Given the description of an element on the screen output the (x, y) to click on. 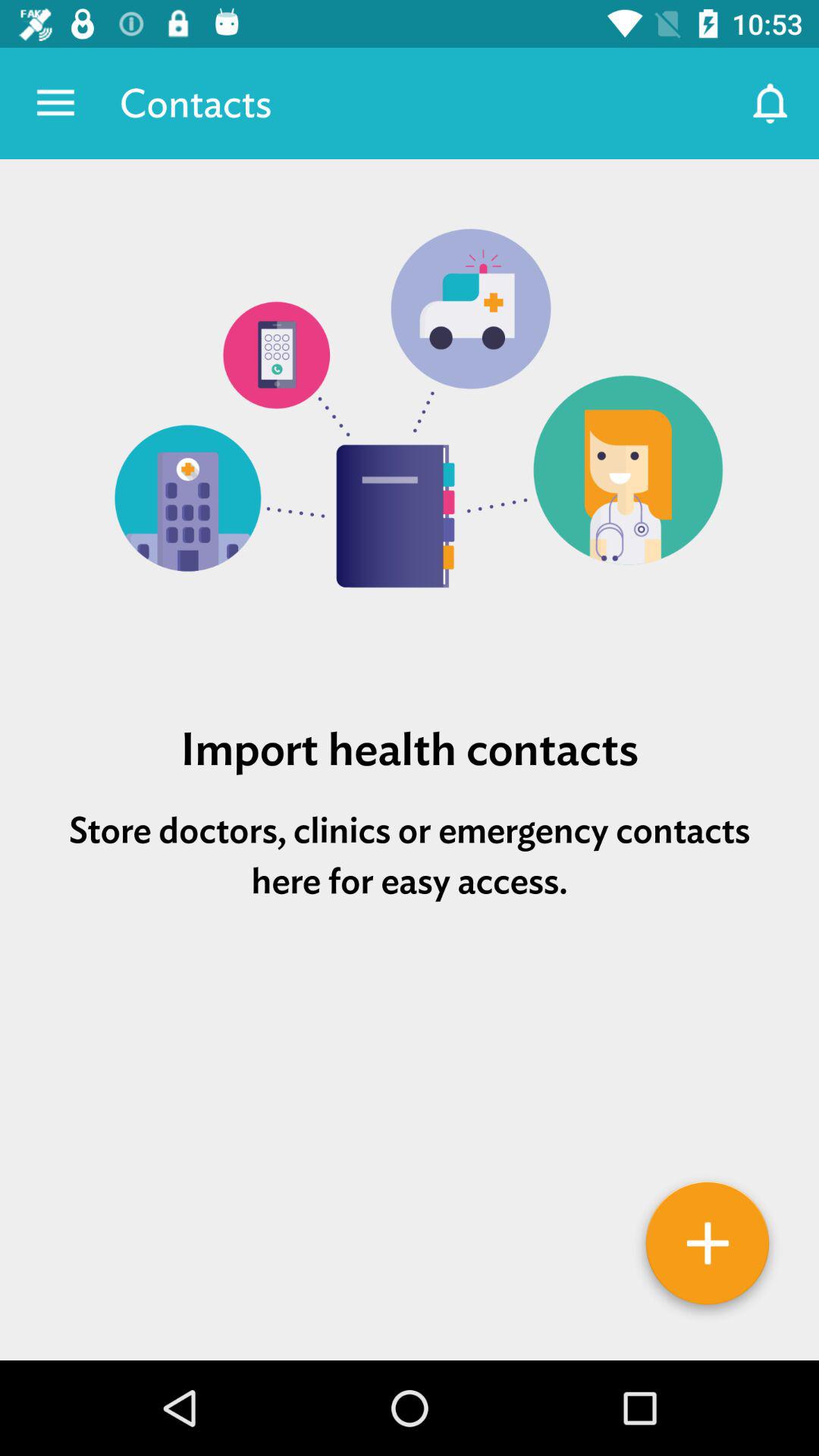
open item above the store doctors clinics icon (409, 748)
